Given the description of an element on the screen output the (x, y) to click on. 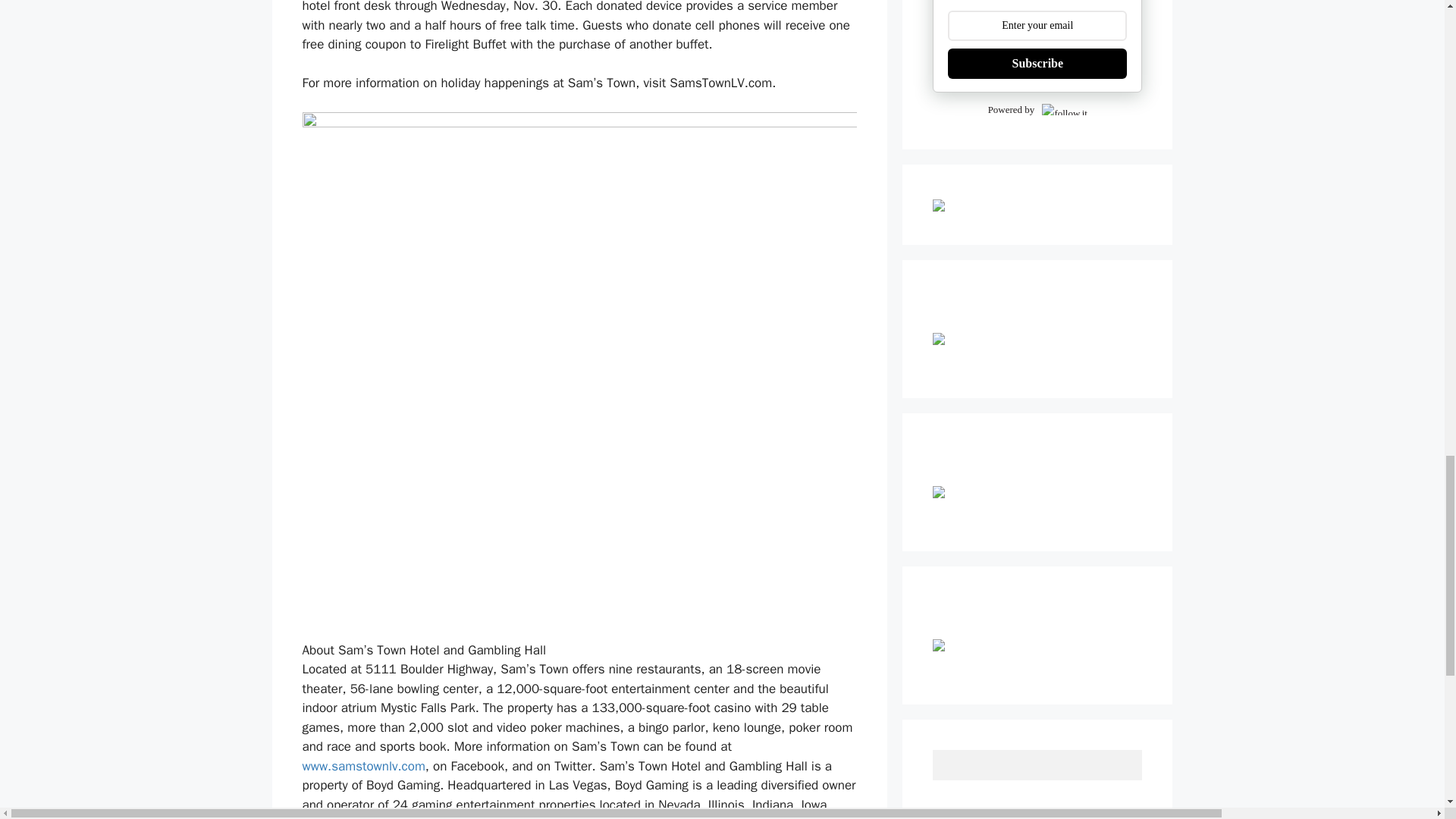
www.samstownlv.com (363, 765)
